Given the description of an element on the screen output the (x, y) to click on. 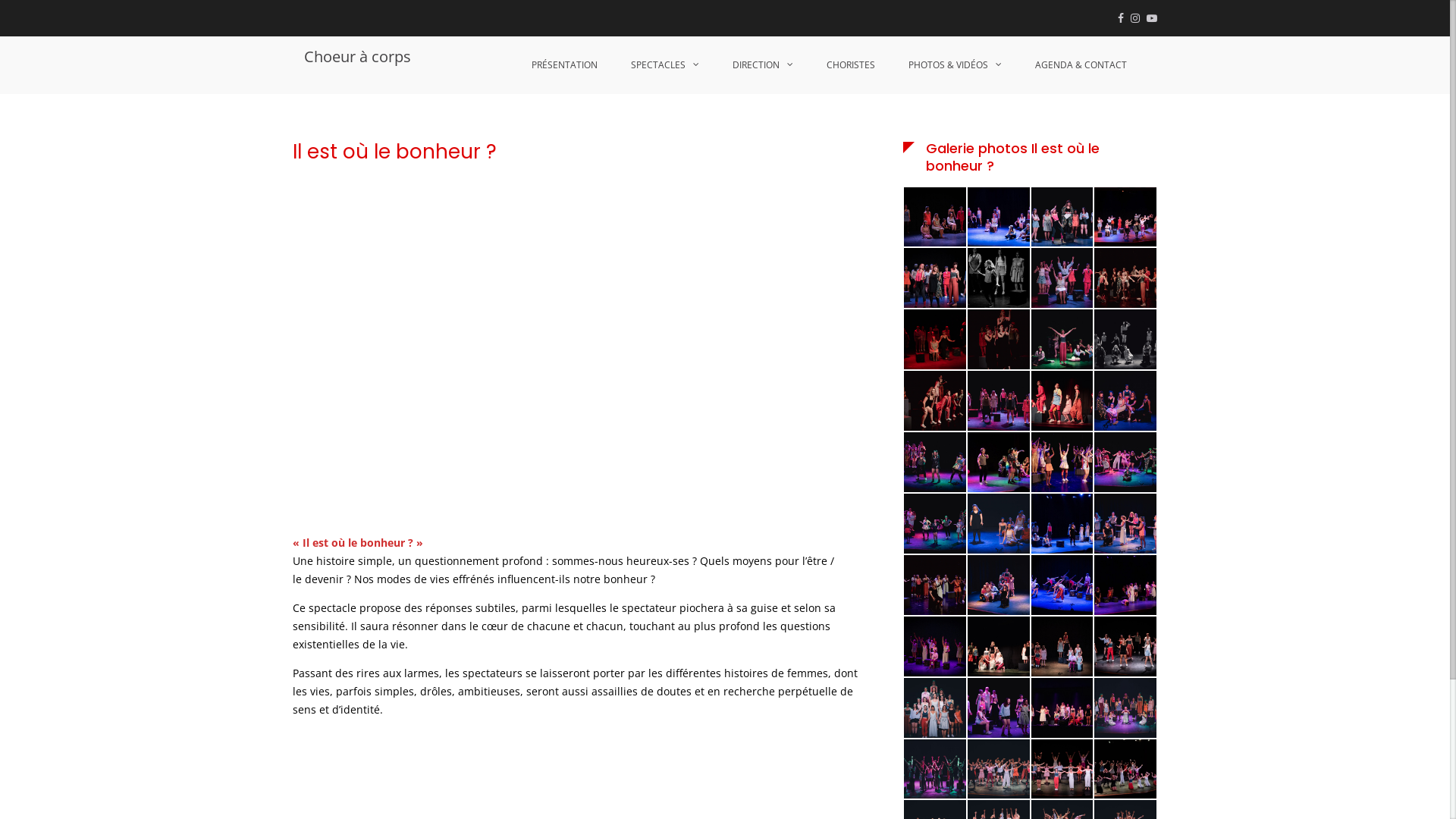
CHORISTES Element type: text (850, 65)
SPECTACLES Element type: text (664, 65)
Instagram Element type: text (1134, 17)
youtube Element type: text (1151, 17)
AGENDA & CONTACT Element type: text (1080, 65)
DIRECTION Element type: text (762, 65)
Facebook Element type: text (1120, 17)
